Given the description of an element on the screen output the (x, y) to click on. 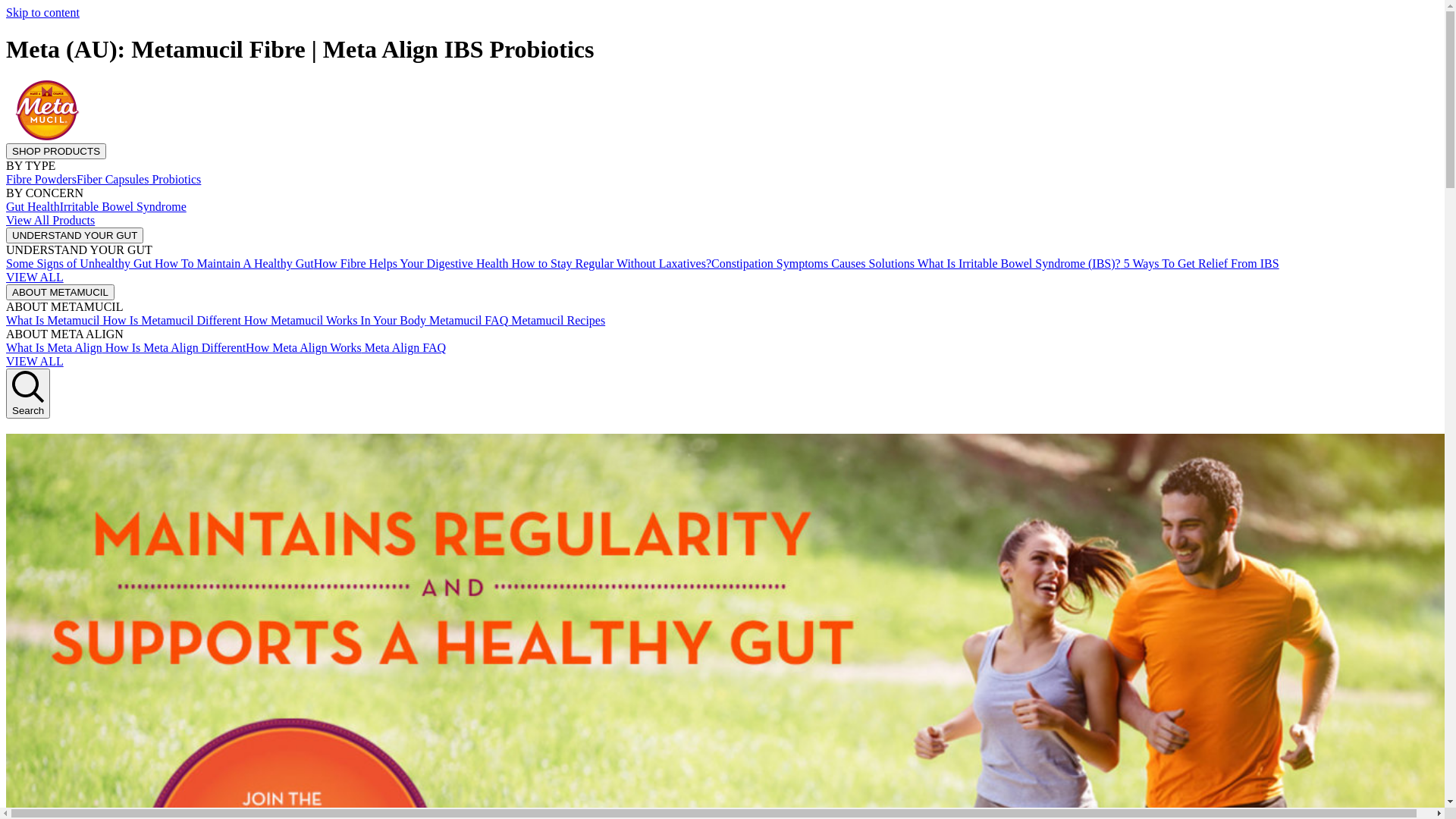
Irritable Bowel Syndrome Element type: text (122, 206)
Search Element type: text (28, 393)
UNDERSTAND YOUR GUT Element type: text (74, 235)
How To Maintain A Healthy Gut Element type: text (232, 263)
Skip to content Element type: text (42, 12)
How to Stay Regular Without Laxatives? Element type: text (609, 263)
SHOP PRODUCTS Element type: text (56, 151)
How Is Metamucil Different Element type: text (170, 319)
ABOUT METAMUCIL Element type: text (60, 291)
How Meta Align Works Element type: text (303, 347)
Probiotics Element type: text (174, 178)
UNDERSTAND YOUR GUT Element type: text (74, 234)
How Fibre Helps Your Digestive Health Element type: text (410, 263)
View All Products Element type: text (50, 219)
What Is Metamucil Element type: text (53, 319)
VIEW ALL Element type: text (34, 276)
ABOUT METAMUCIL Element type: text (60, 292)
Metamucil FAQ Element type: text (467, 319)
SHOP PRODUCTS Element type: text (56, 150)
How Metamucil Works In Your Body Element type: text (333, 319)
Brand Logo Element type: hover (47, 135)
Meta Align FAQ Element type: text (403, 347)
What Is Irritable Bowel Syndrome (IBS)? Element type: text (1017, 263)
Fibre Powders Element type: text (41, 178)
How Is Meta Align Different Element type: text (173, 347)
Metamucil Recipes Element type: text (556, 319)
Constipation Symptoms Causes Solutions Element type: text (812, 263)
Some Signs of Unhealthy Gut Element type: text (78, 263)
Gut Health Element type: text (32, 206)
5 Ways To Get Relief From IBS Element type: text (1199, 263)
What Is Meta Align Element type: text (54, 347)
VIEW ALL Element type: text (34, 360)
Fiber Capsules Element type: text (112, 178)
